Given the description of an element on the screen output the (x, y) to click on. 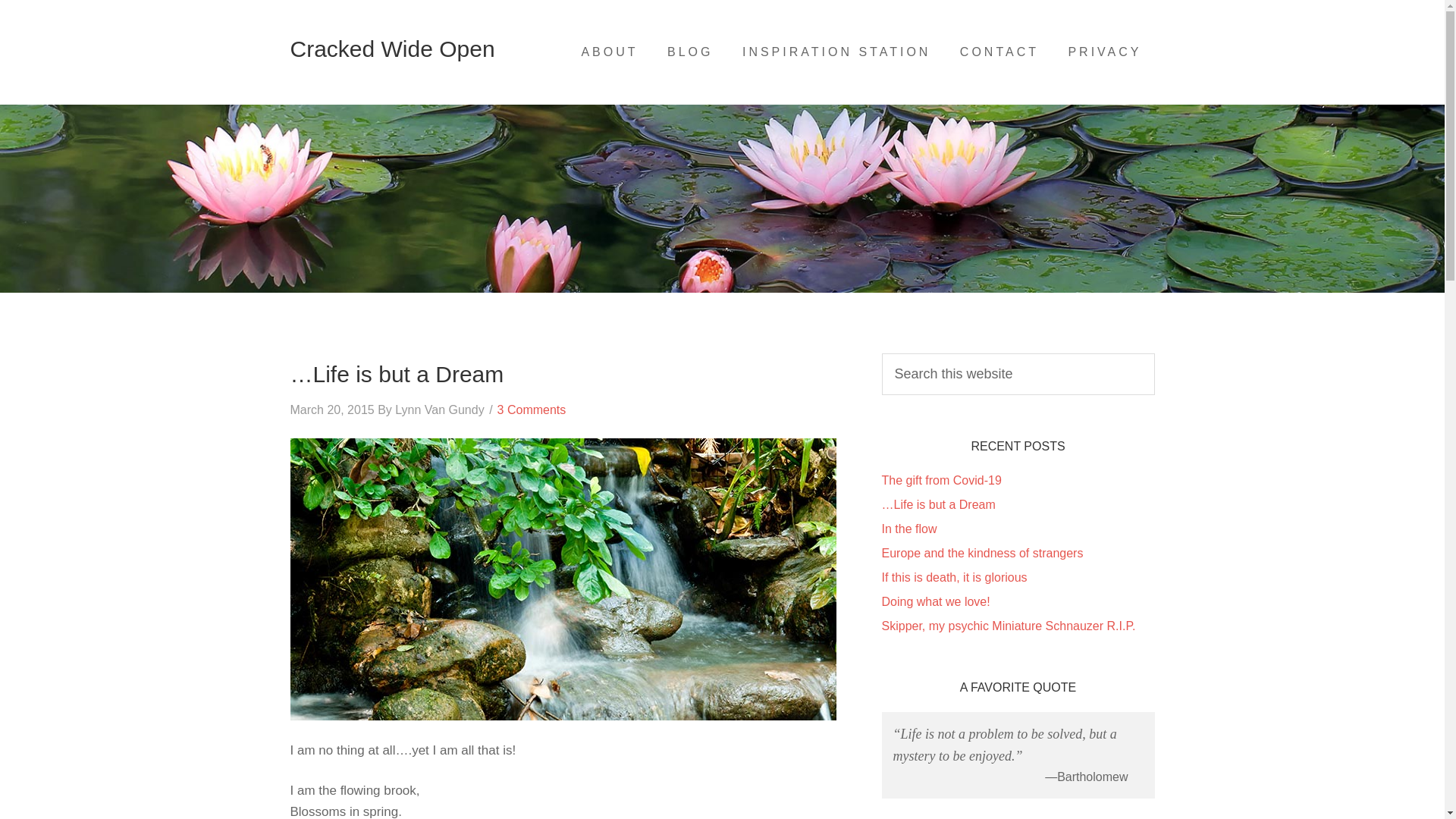
CONTACT (999, 52)
3 Comments (531, 409)
BLOG (689, 52)
Cracked Wide Open (392, 48)
The gift from Covid-19 (940, 480)
Skipper, my psychic Miniature Schnauzer R.I.P. (1007, 625)
INSPIRATION STATION (836, 52)
If this is death, it is glorious (953, 576)
